Given the description of an element on the screen output the (x, y) to click on. 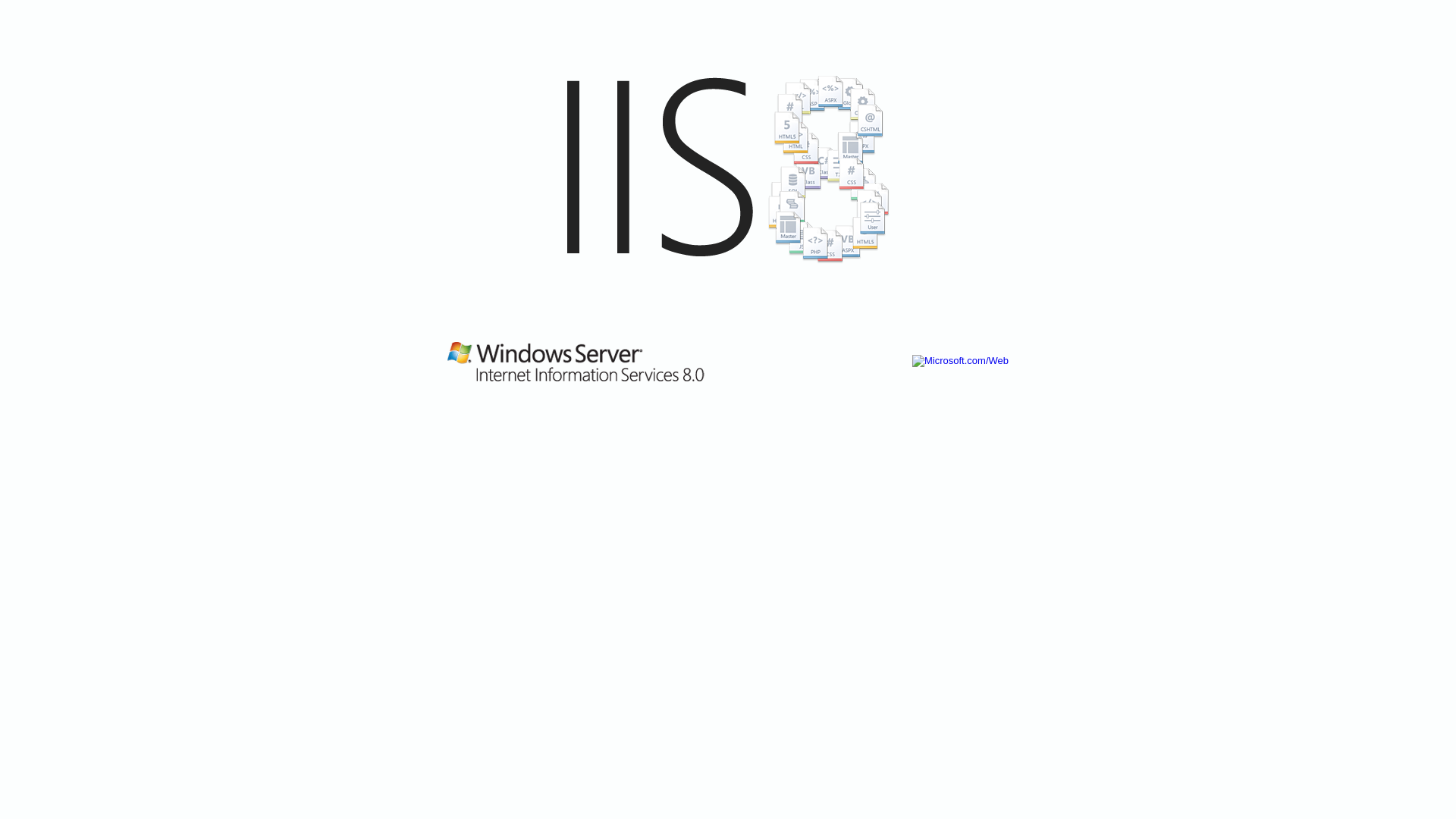
microsoft.com/web Element type: hover (727, 208)
